Given the description of an element on the screen output the (x, y) to click on. 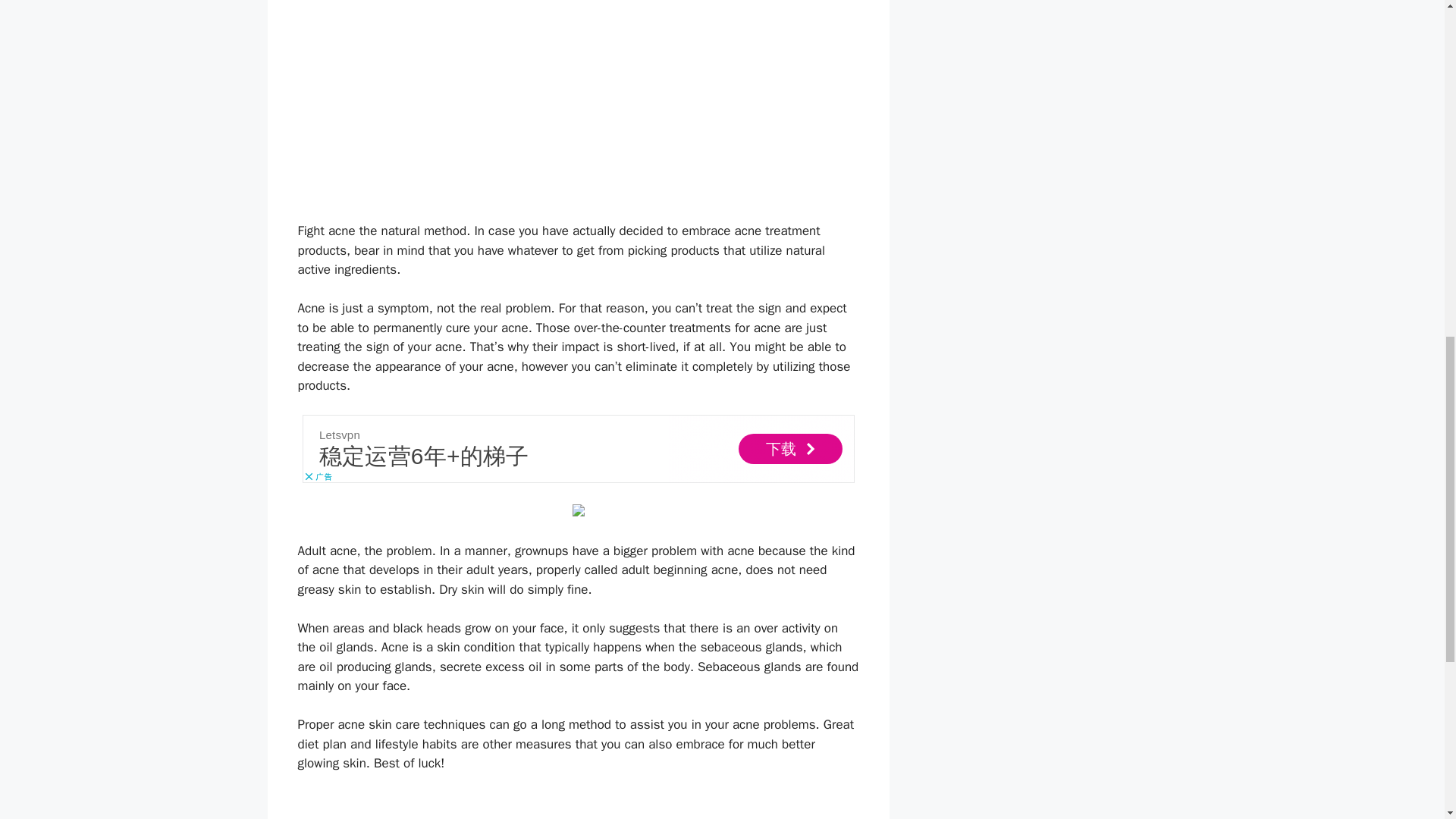
Advertisement (576, 805)
Advertisement (577, 448)
